Given the description of an element on the screen output the (x, y) to click on. 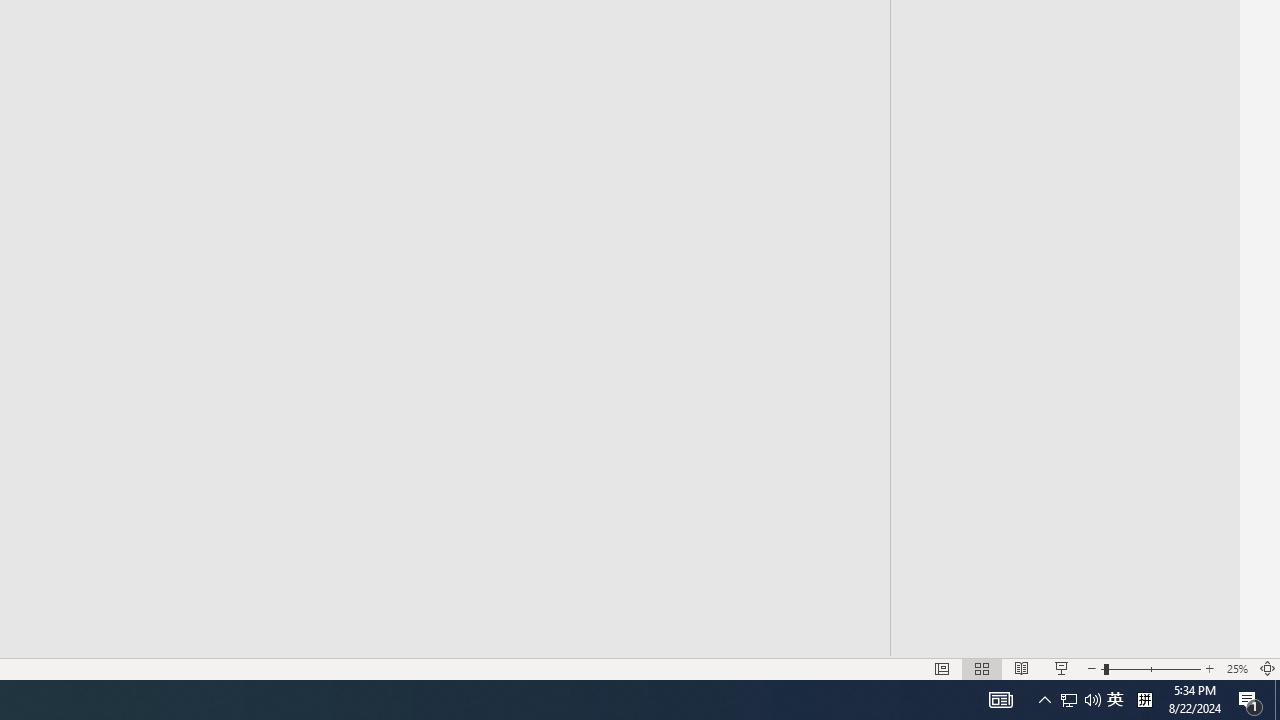
Zoom 25% (1236, 668)
